Given the description of an element on the screen output the (x, y) to click on. 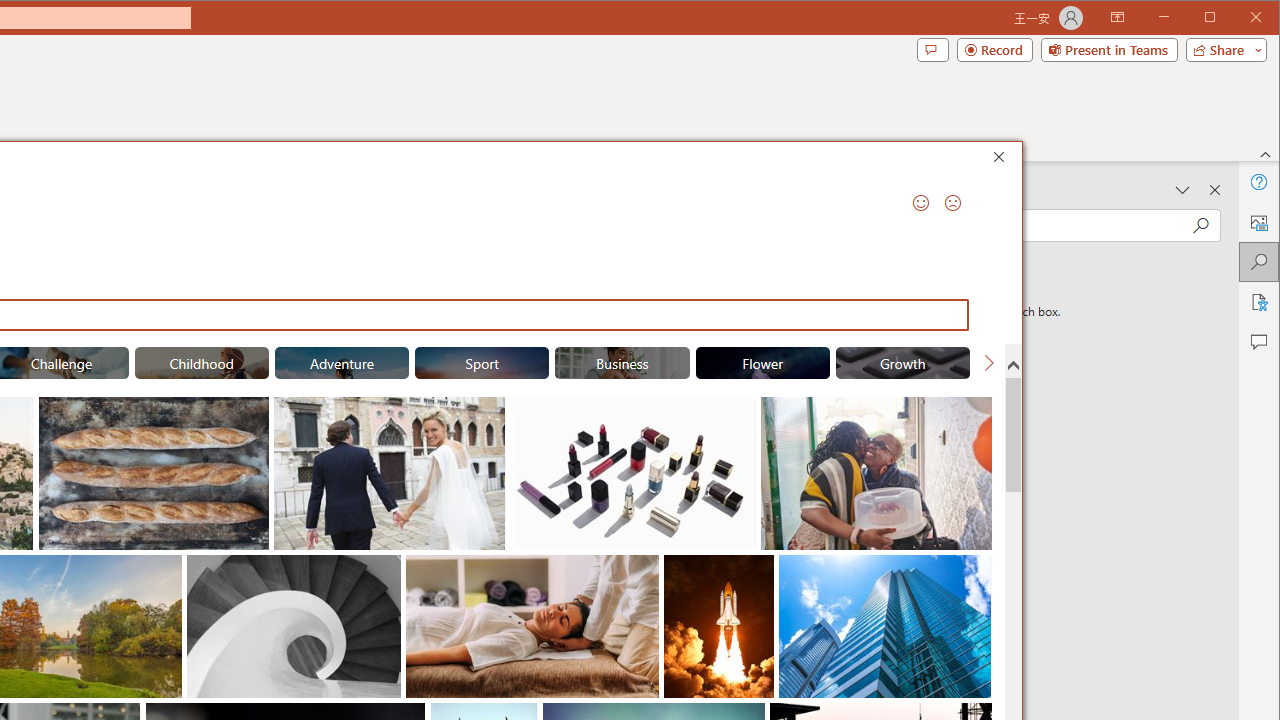
Send a Frown (952, 202)
Next Search Suggestion (988, 362)
"Childhood" Stock Images. (201, 362)
"Business" Stock Images. (622, 362)
"Growth" Stock Images. (902, 362)
